Given the description of an element on the screen output the (x, y) to click on. 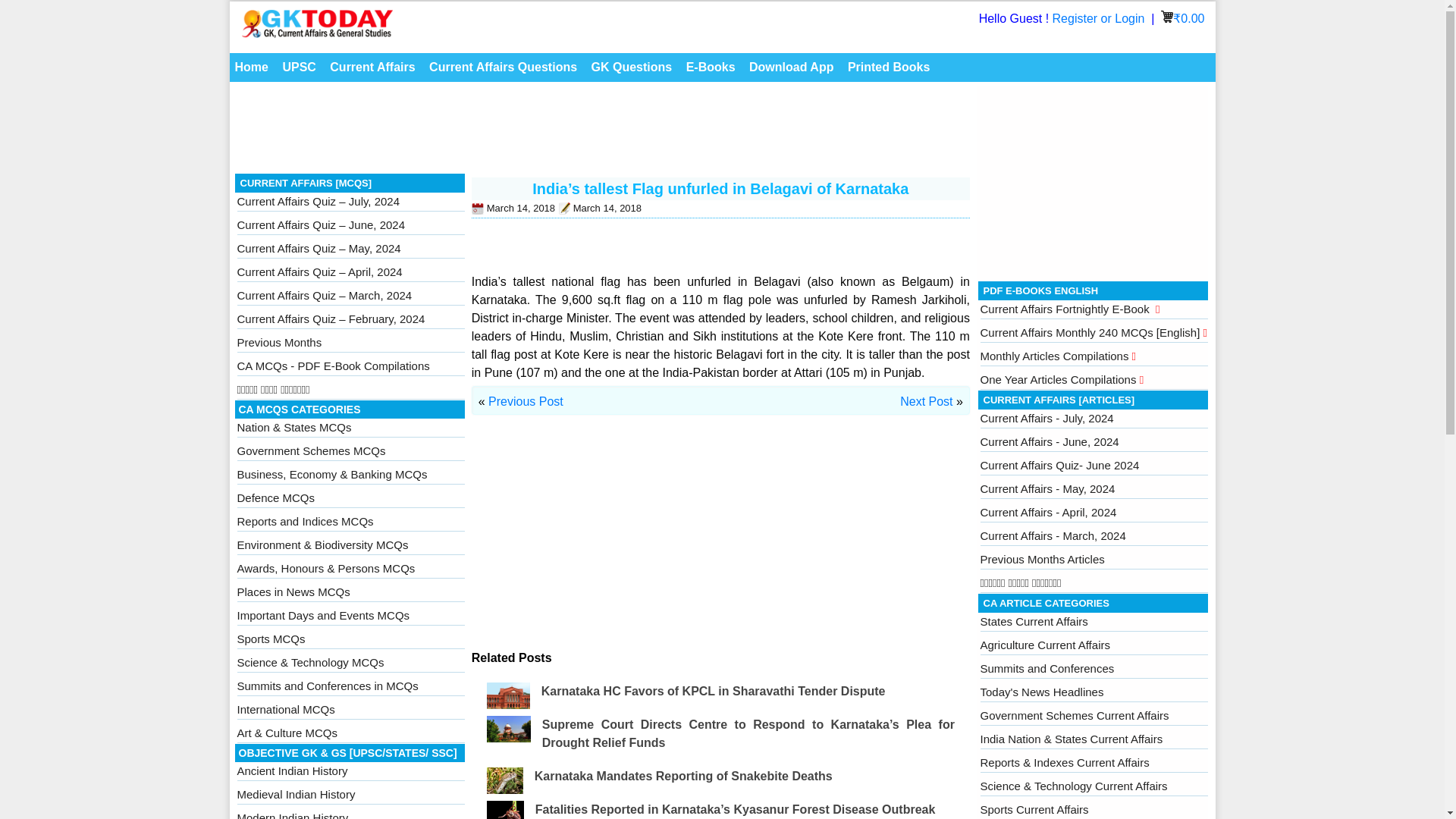
CA MCQs - PDF E-Book Compilations (332, 365)
GK Questions (632, 67)
Download App (791, 67)
UPSC (298, 67)
Defence MCQs (274, 497)
Advertisement (1093, 181)
Reports and Indices MCQs (303, 521)
Karnataka HC Favors of KPCL in Sharavathi Tender Dispute (713, 690)
Karnataka HC Favors of KPCL in Sharavathi Tender Dispute (713, 690)
Current Affairs Questions (502, 67)
Printed Books (888, 67)
Karnataka Mandates Reporting of Snakebite Deaths (683, 775)
Register or Login (1100, 18)
E-Books (711, 67)
Advertisement (720, 542)
